Given the description of an element on the screen output the (x, y) to click on. 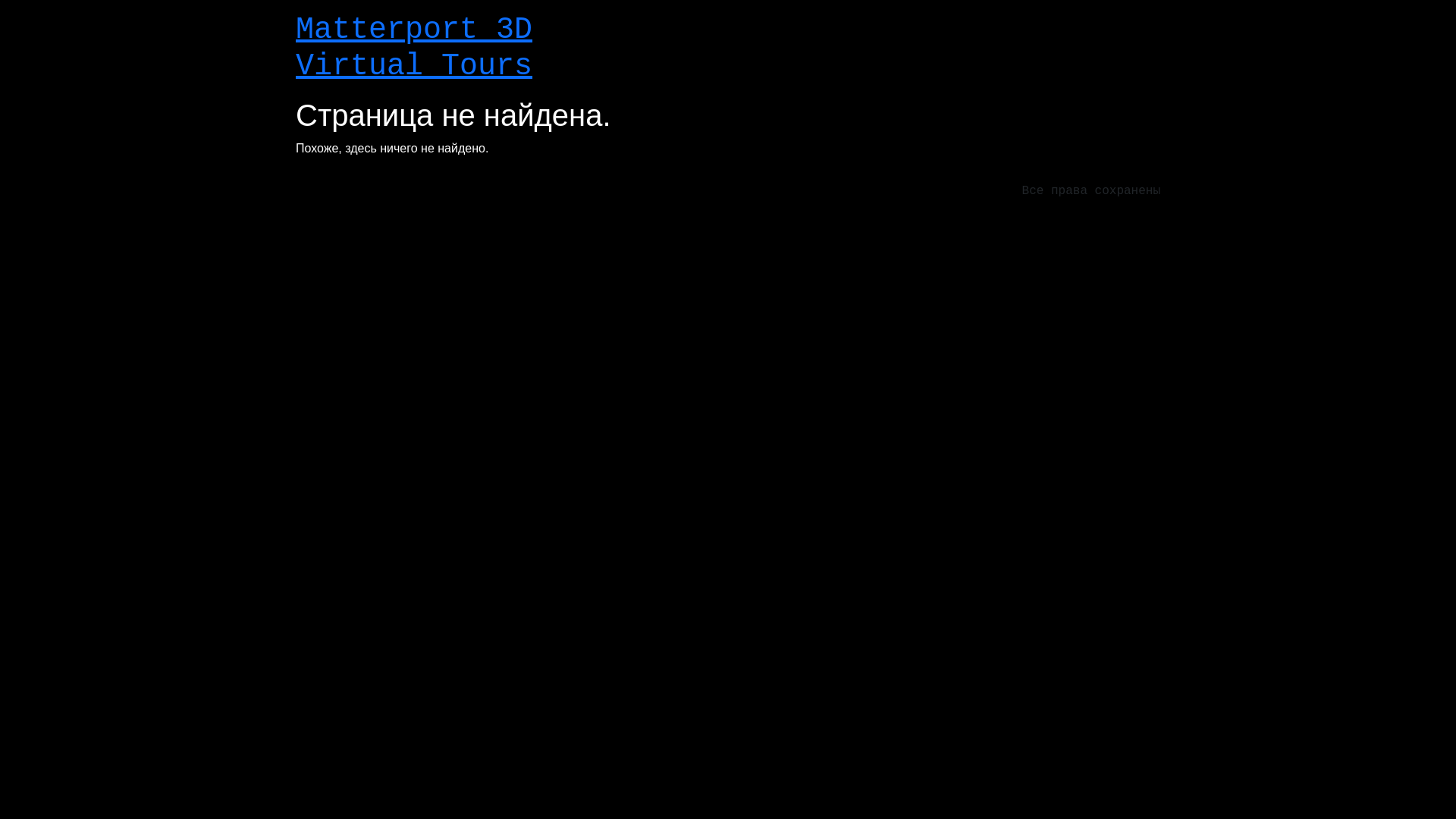
Matterport 3D Virtual Tours Element type: text (413, 47)
